Given the description of an element on the screen output the (x, y) to click on. 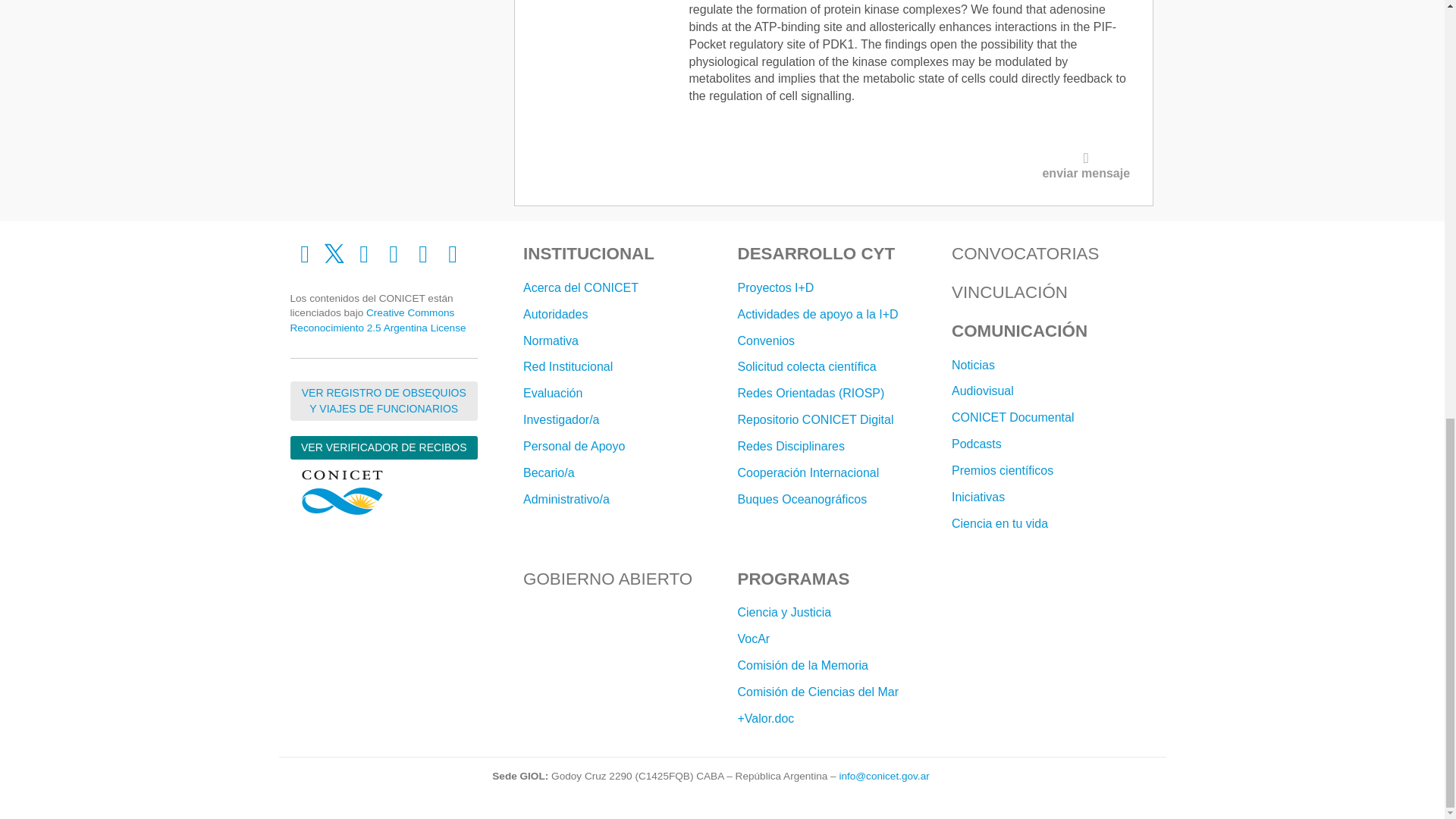
Ver verificador de recibos (383, 447)
Ver Registro de Obsequios y Viajes de Funcionarios (383, 400)
